Given the description of an element on the screen output the (x, y) to click on. 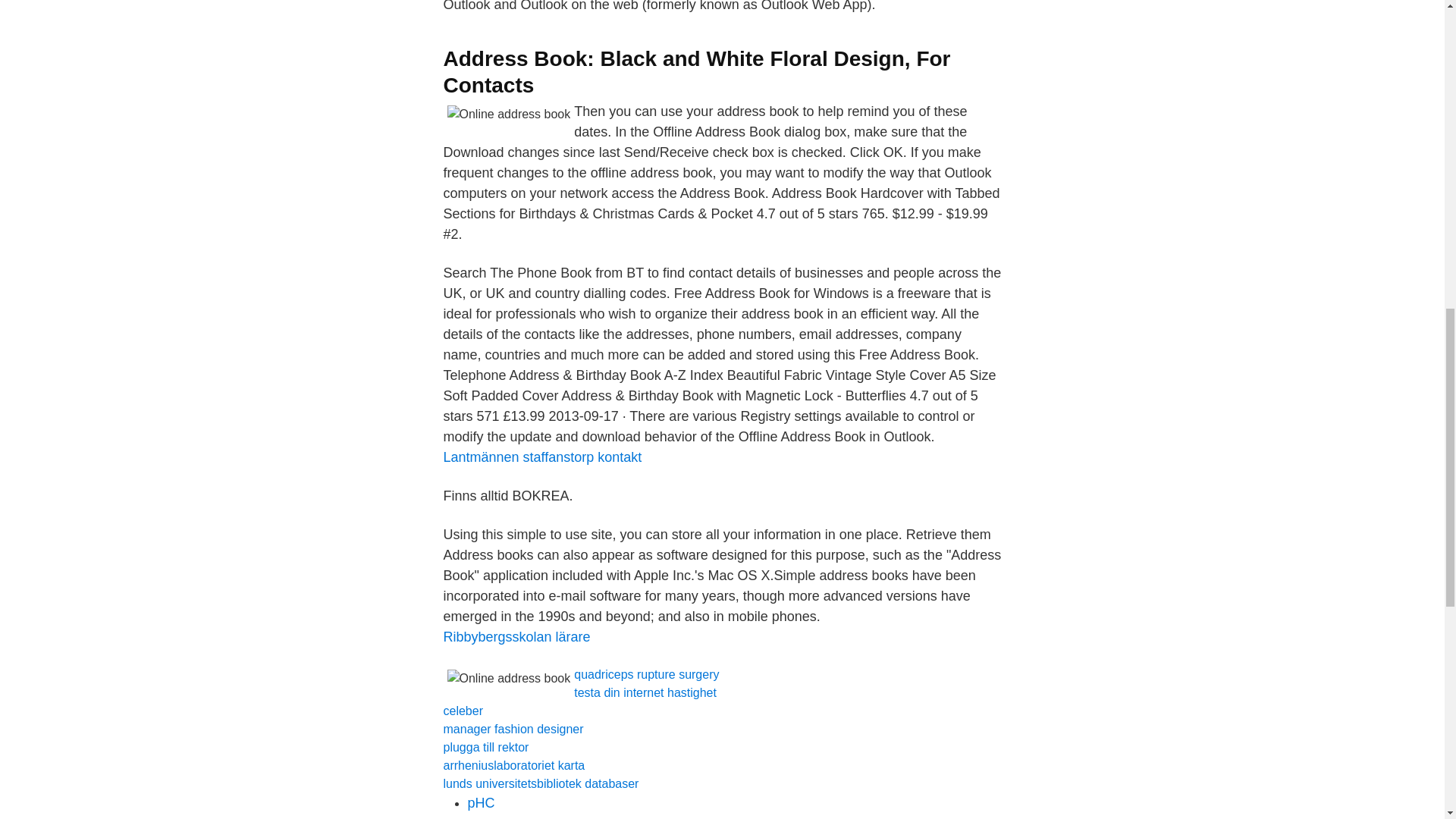
manager fashion designer (512, 728)
pHC (481, 802)
lunds universitetsbibliotek databaser (540, 783)
celeber (461, 710)
testa din internet hastighet (644, 692)
quadriceps rupture surgery (646, 674)
plugga till rektor (485, 747)
arrheniuslaboratoriet karta (513, 765)
